Given the description of an element on the screen output the (x, y) to click on. 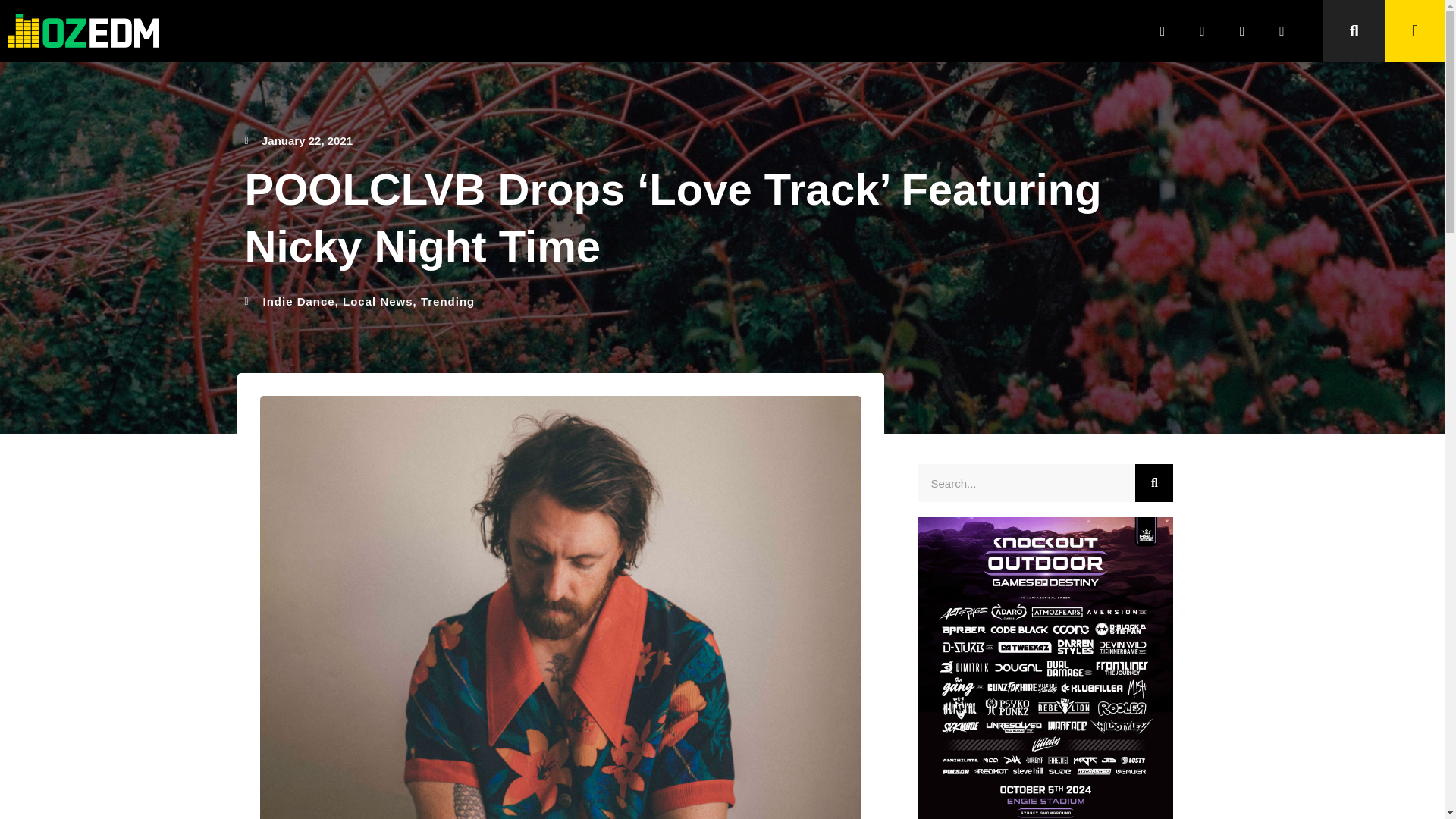
Indie Dance (298, 300)
Local News (377, 300)
Trending (447, 300)
